Given the description of an element on the screen output the (x, y) to click on. 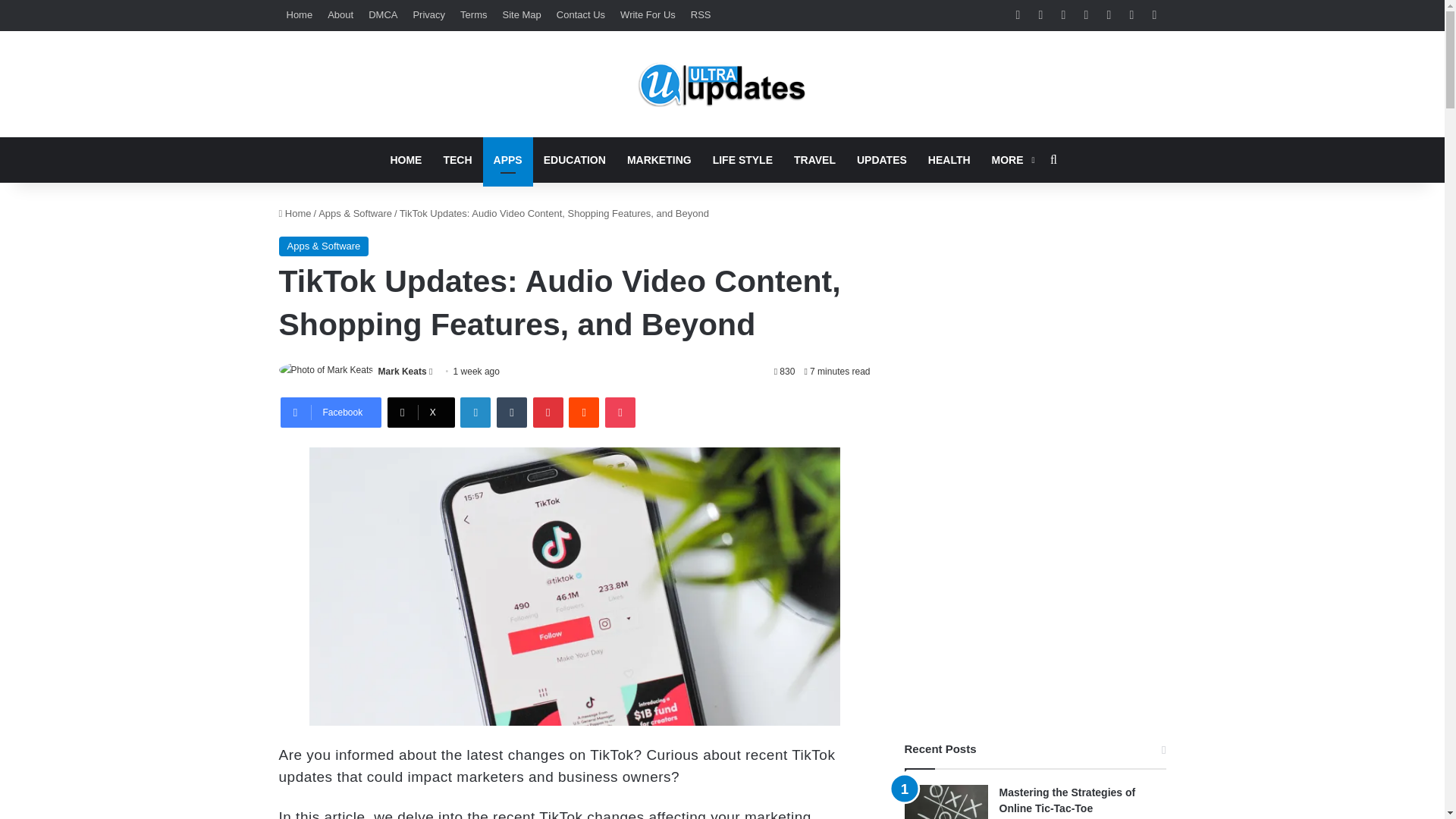
LIFE STYLE (742, 159)
Facebook (331, 412)
TRAVEL (814, 159)
Pocket (619, 412)
MORE (1011, 159)
Pinterest (547, 412)
EDUCATION (573, 159)
Reddit (583, 412)
HOME (405, 159)
Home (299, 15)
Tumblr (511, 412)
Contact Us (580, 15)
MARKETING (658, 159)
Mark Keats (402, 371)
APPS (507, 159)
